Given the description of an element on the screen output the (x, y) to click on. 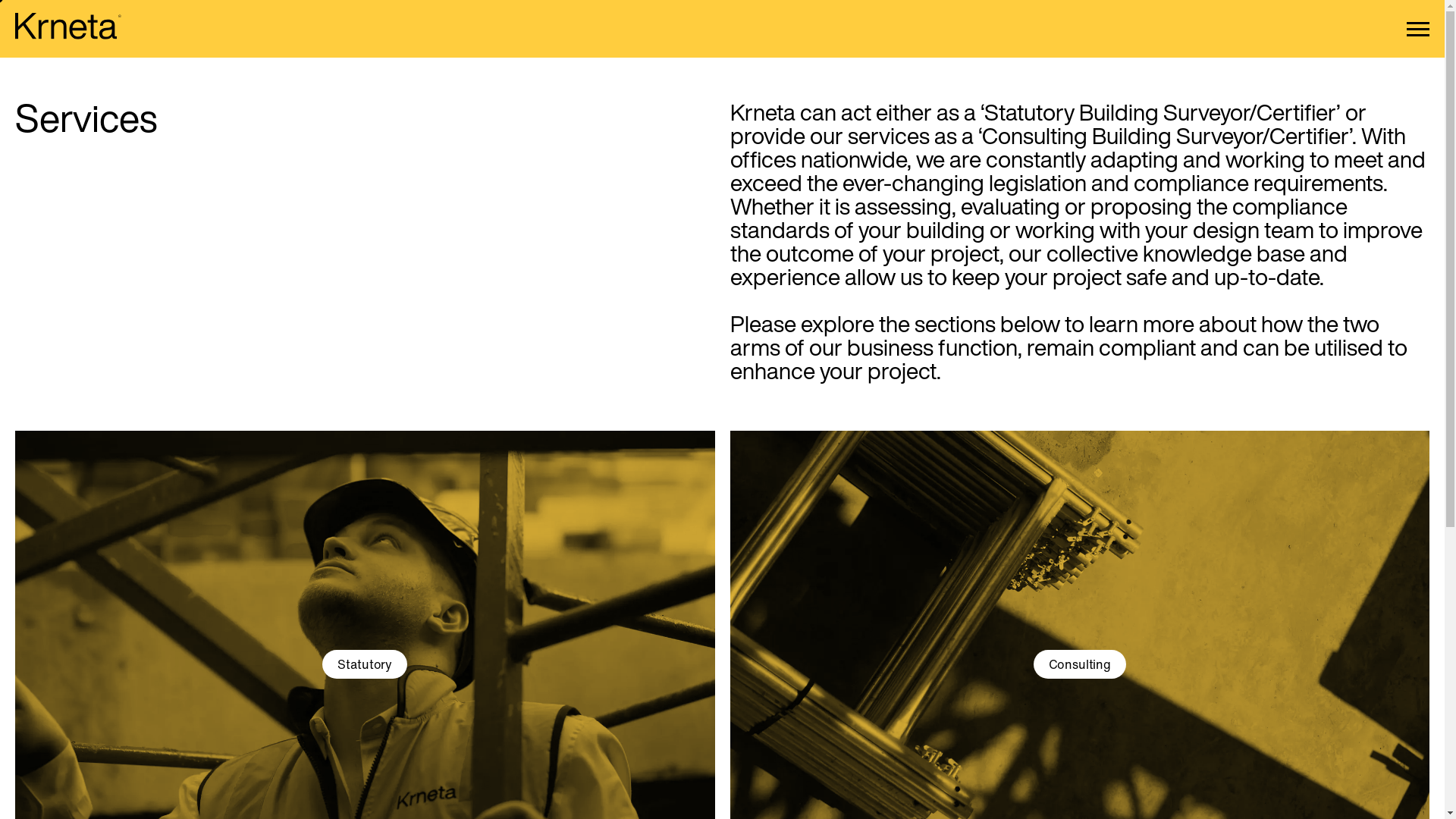
Statutory Element type: text (364, 663)
Consulting Element type: text (1079, 663)
